Given the description of an element on the screen output the (x, y) to click on. 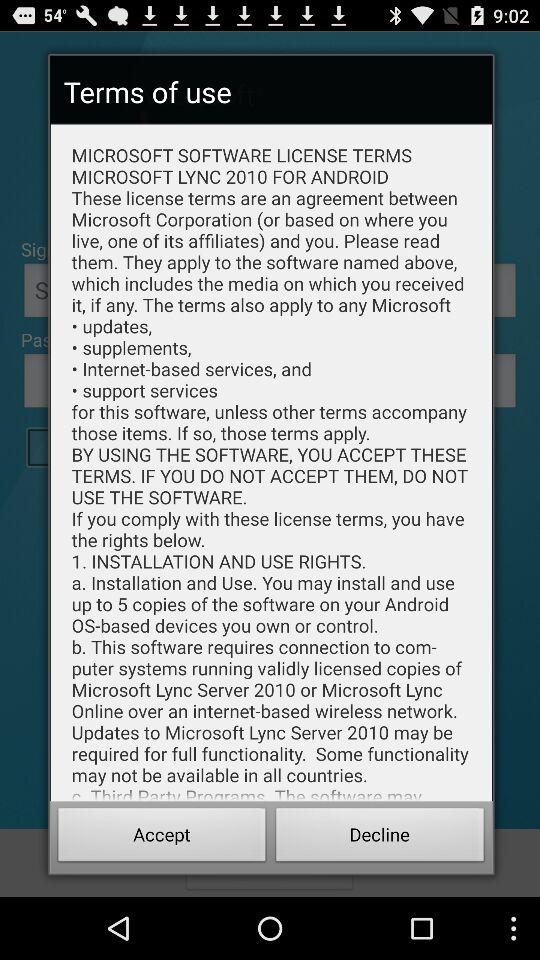
launch accept button (162, 837)
